Given the description of an element on the screen output the (x, y) to click on. 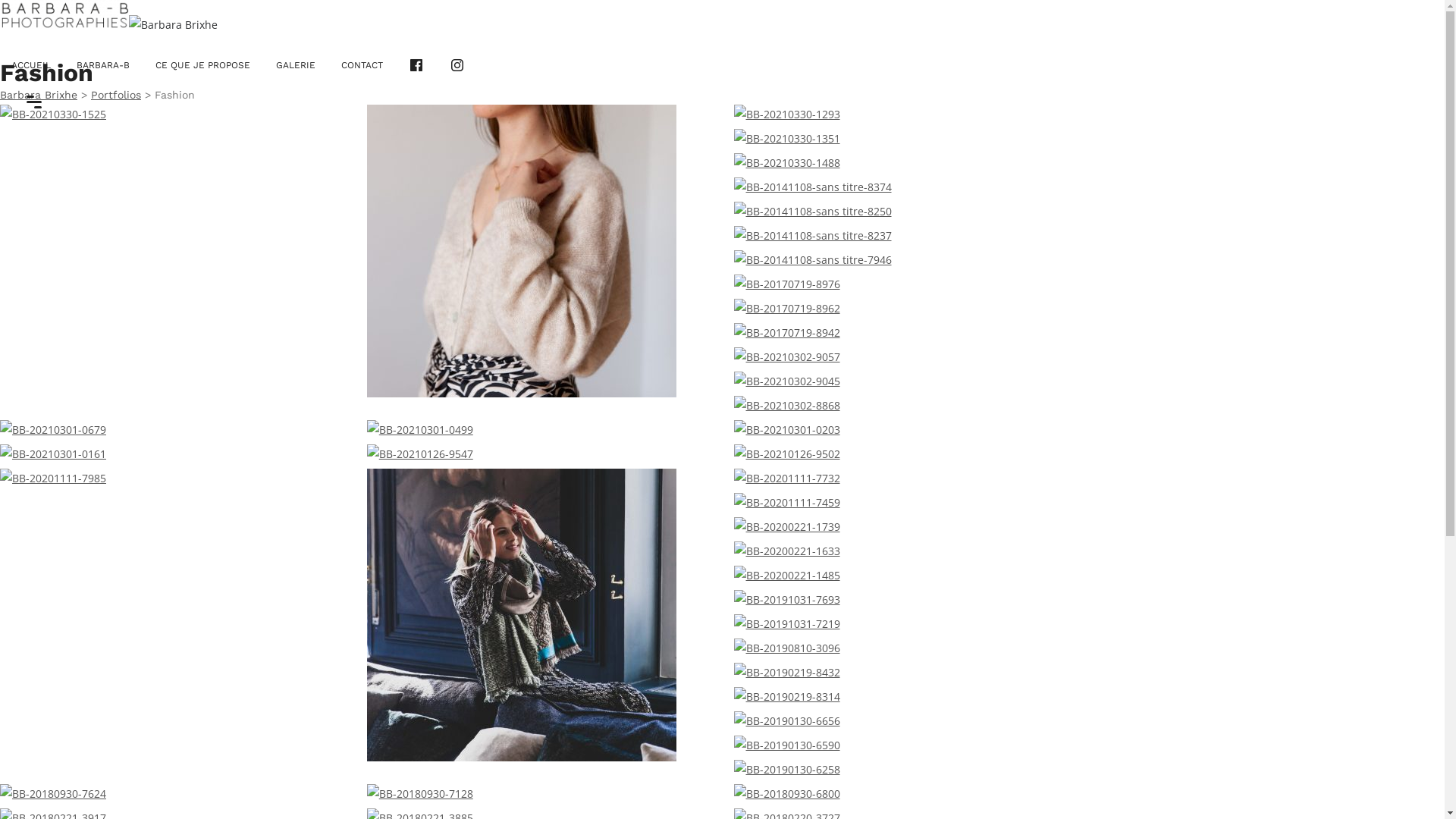
Next (arrow right) Element type: hover (1417, 621)
Barbara Brixhe Element type: text (38, 94)
CE QUE JE PROPOSE Element type: text (202, 64)
Close (Esc) Element type: hover (1427, 16)
CONTACT Element type: text (361, 64)
Portfolios Element type: text (116, 94)
ACCUEIL Element type: text (31, 64)
BARBARA-B Element type: text (103, 64)
GALERIE Element type: text (295, 64)
Share Element type: hover (1394, 16)
Previous (arrow left) Element type: hover (26, 621)
